Given the description of an element on the screen output the (x, y) to click on. 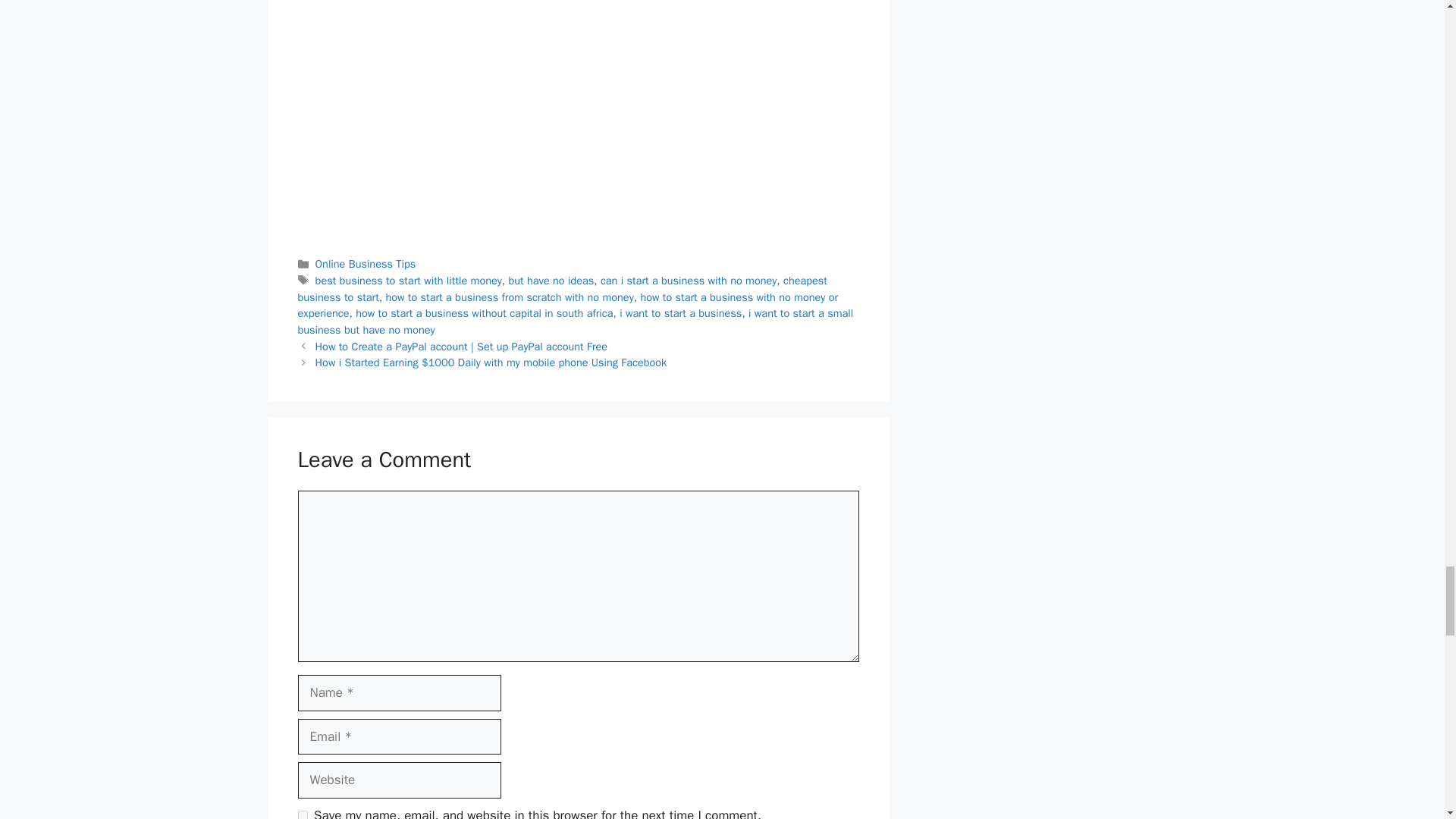
yes (302, 814)
can i start a business with no money (687, 280)
how to start a business from scratch with no money (509, 296)
cheapest business to start (562, 288)
how to start a business without capital in south africa (483, 313)
but have no ideas (551, 280)
how to start a business with no money or experience (567, 305)
i want to start a small business but have no money (575, 321)
Online Business Tips (365, 264)
best business to start with little money (408, 280)
i want to start a business (680, 313)
